Given the description of an element on the screen output the (x, y) to click on. 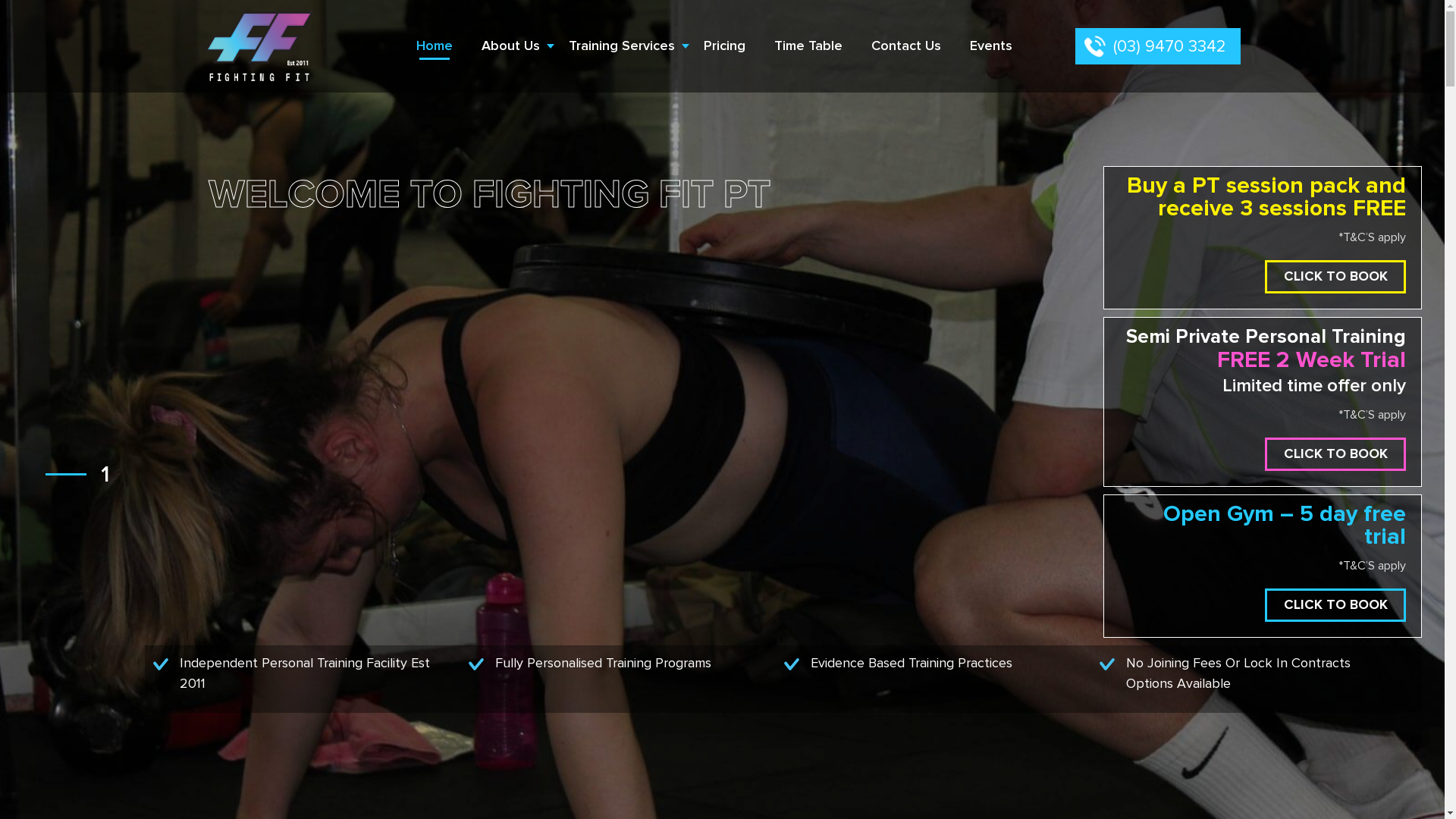
Contact Us Element type: text (906, 46)
Time Table Element type: text (808, 46)
(03) 9470 3342 Element type: text (1157, 46)
Pricing Element type: text (724, 46)
About Us Element type: text (510, 46)
Training Services Element type: text (621, 46)
CLICK TO BOOK Element type: text (1334, 454)
Events Element type: text (990, 46)
Home Element type: text (434, 46)
CLICK TO BOOK Element type: text (1334, 276)
Fighting Fit pt Element type: text (279, 46)
CLICK TO BOOK Element type: text (1334, 604)
Skip to content Element type: text (0, 0)
